Given the description of an element on the screen output the (x, y) to click on. 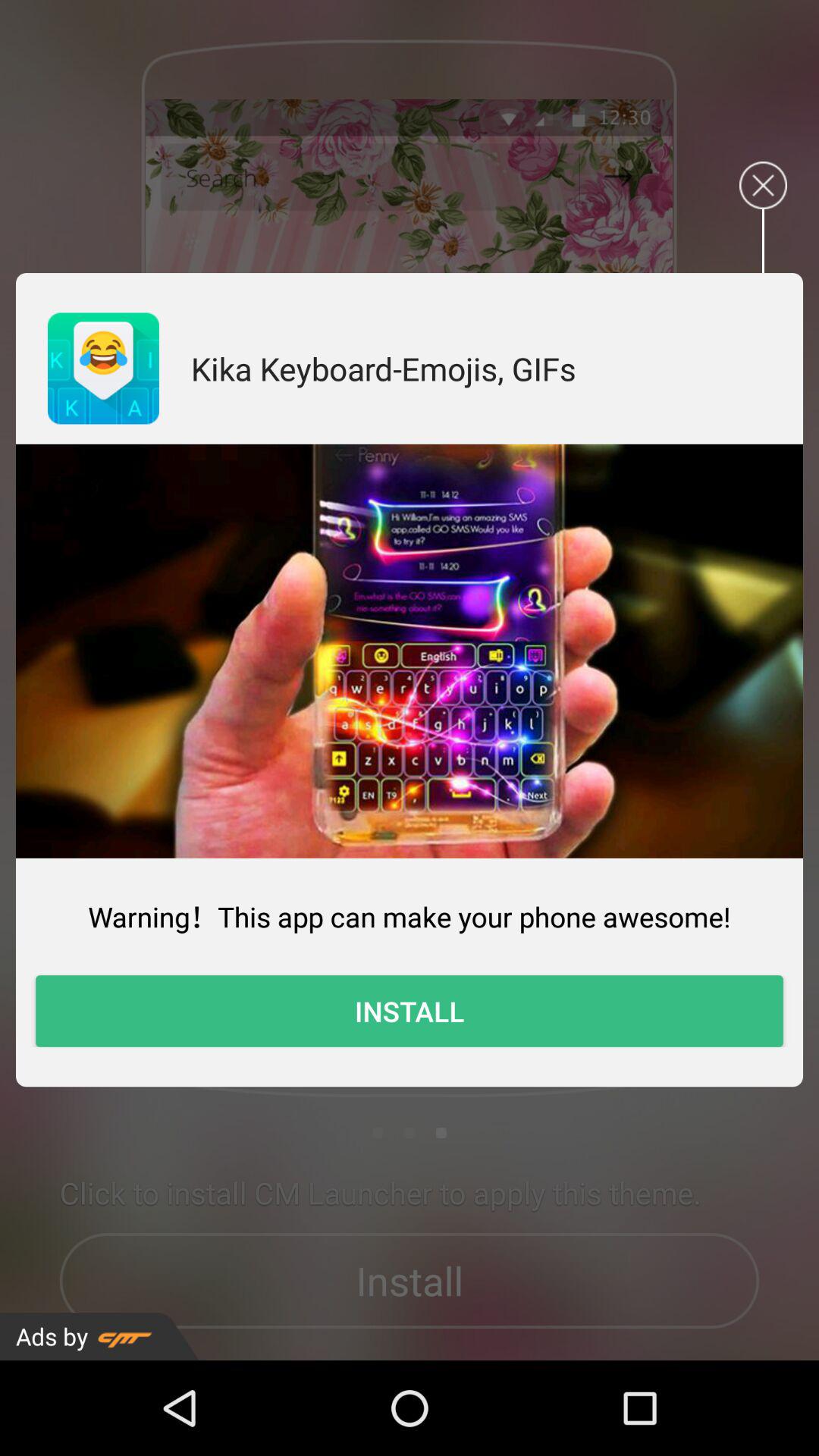
set new emojis (409, 651)
